Given the description of an element on the screen output the (x, y) to click on. 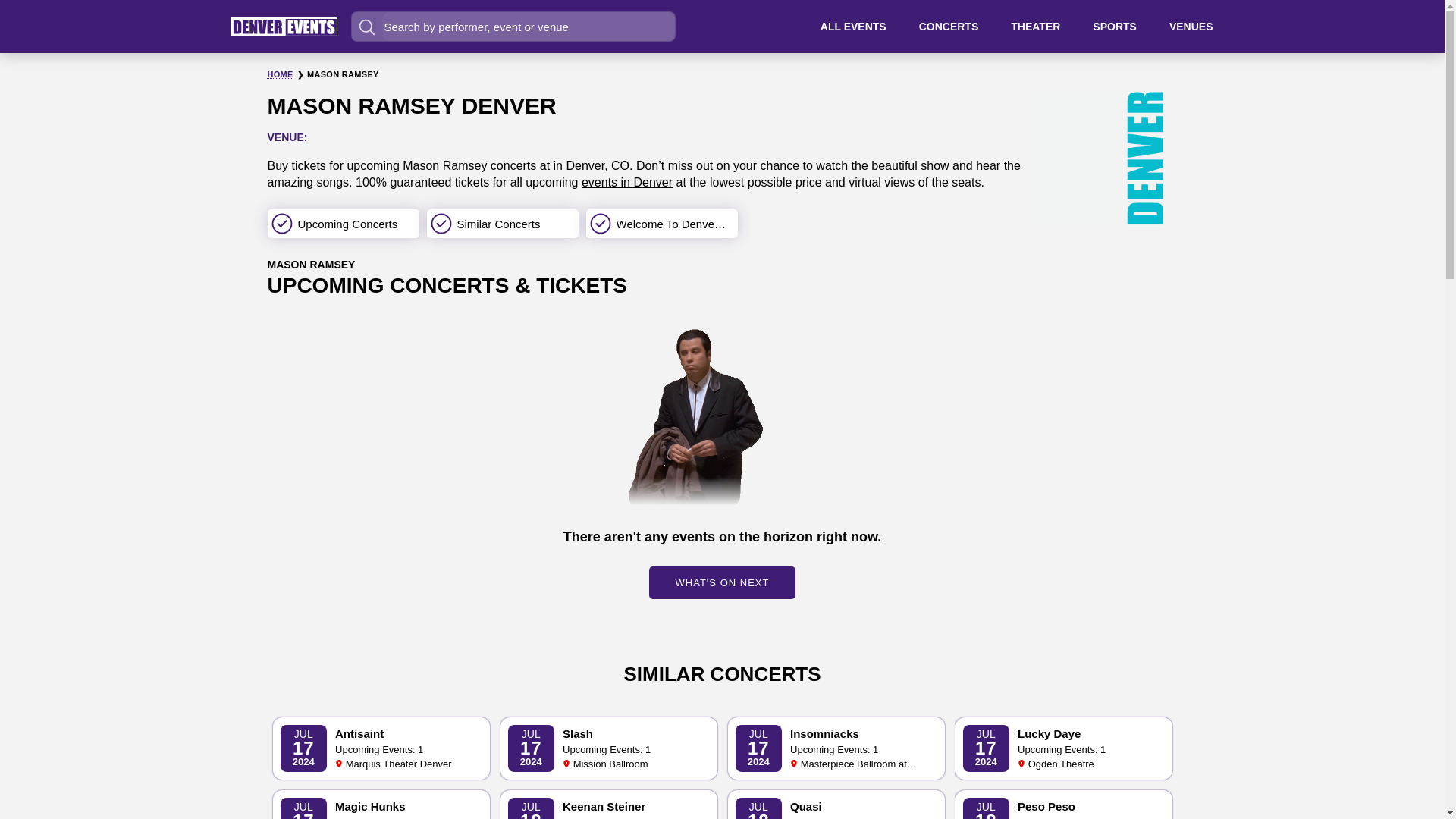
events in Denver (836, 804)
THEATER (626, 182)
VENUES (608, 748)
WHAT'S ON NEXT (1063, 804)
CONCERTS (1034, 26)
ALL EVENTS (1190, 26)
SPORTS (1063, 748)
HOME (722, 582)
